Given the description of an element on the screen output the (x, y) to click on. 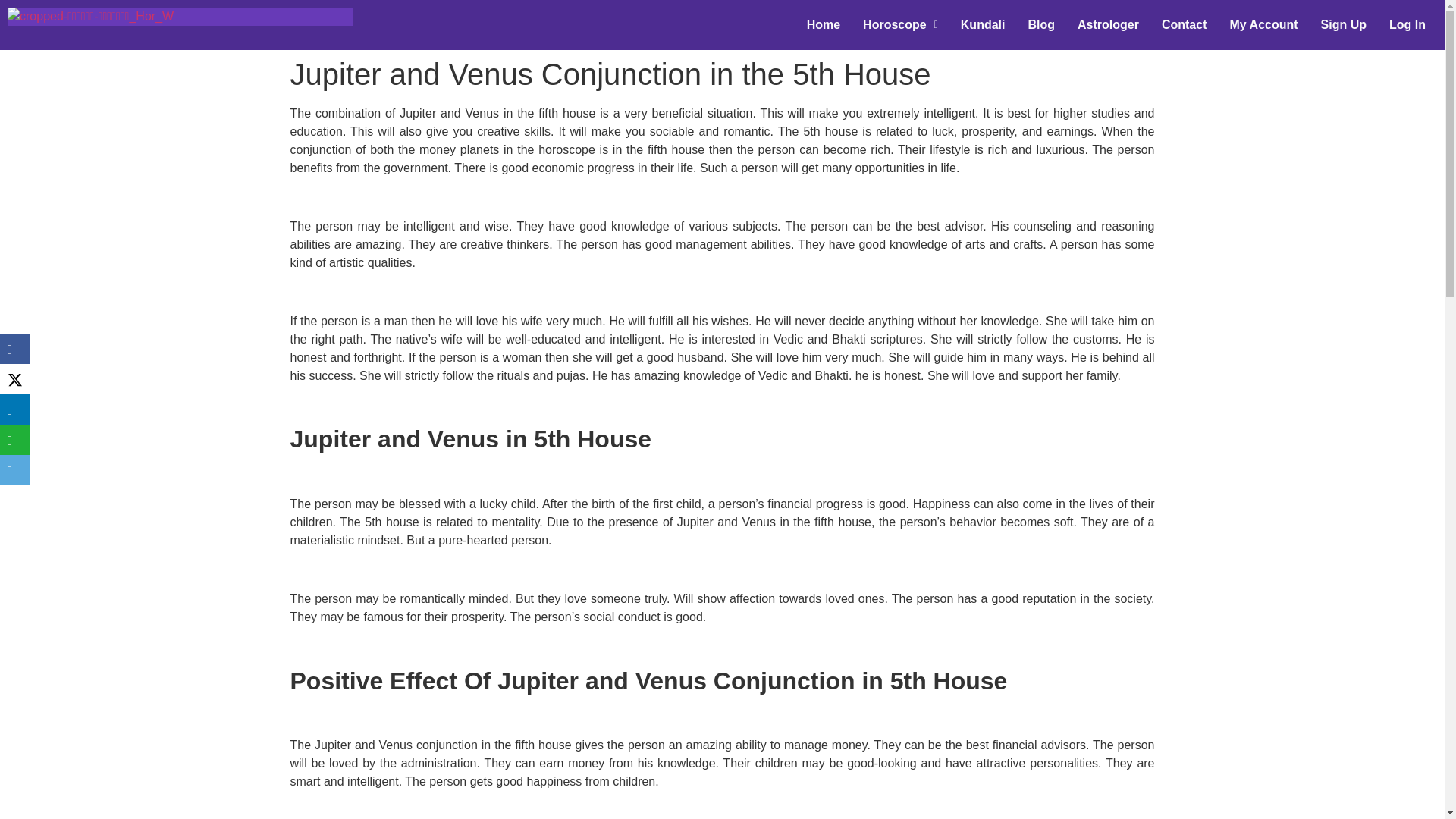
Contact (1184, 24)
Kundali (982, 24)
Log In (1407, 24)
My Account (1262, 24)
Astrologer (1107, 24)
Sign Up (1342, 24)
Horoscope (900, 24)
Blog (1040, 24)
Home (822, 24)
